Given the description of an element on the screen output the (x, y) to click on. 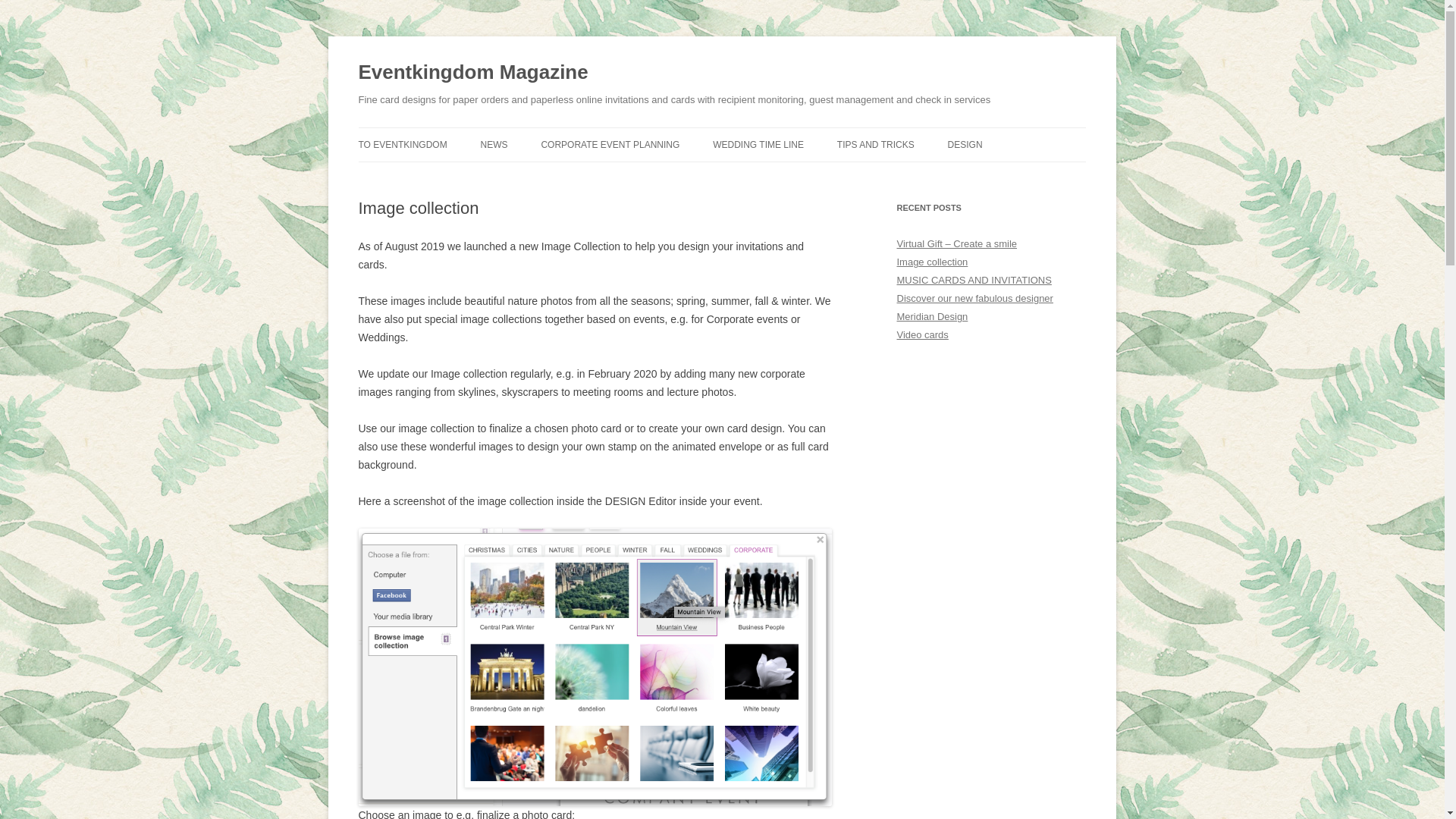
TO EVENTKINGDOM (402, 144)
WEDDING TIME LINE (758, 144)
Eventkingdom Magazine (473, 72)
Discover our new fabulous designer Meridian Design (974, 307)
Eventkingdom Magazine (473, 72)
Video cards (921, 334)
Image collection (932, 261)
MUSIC CARDS AND INVITATIONS (973, 279)
CORPORATE EVENT PLANNING (609, 144)
DESIGN (964, 144)
TIPS AND TRICKS (875, 144)
Skip to content (757, 132)
Skip to content (757, 132)
